Given the description of an element on the screen output the (x, y) to click on. 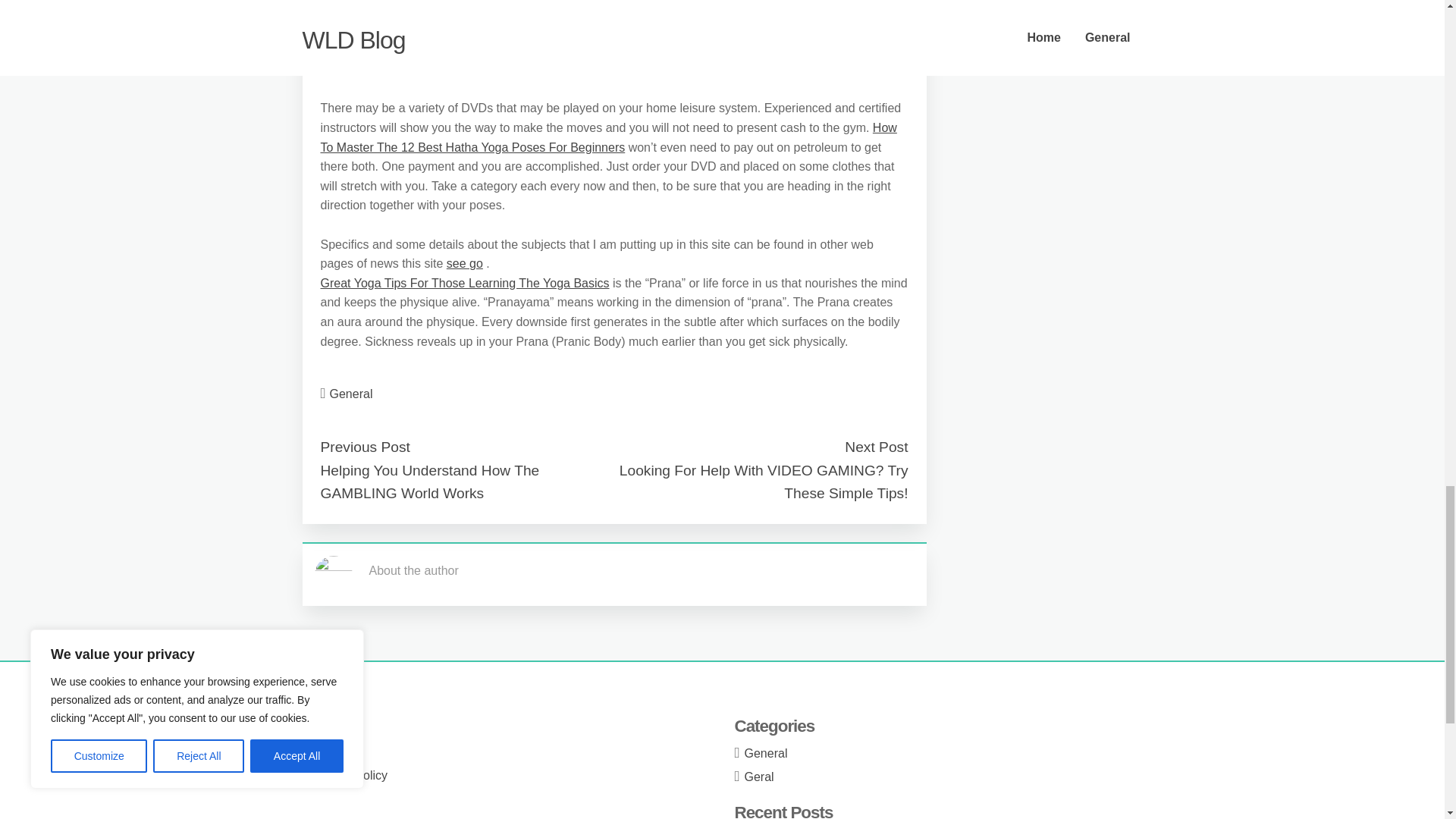
Looking For Help With VIDEO GAMING? Try These Simple Tips! (764, 482)
Contact (333, 751)
General (765, 753)
Next Post (875, 446)
About (328, 727)
see go (464, 263)
Helping You Understand How The GAMBLING World Works (429, 482)
General (351, 393)
Privacy Policy (350, 775)
Geral (759, 776)
